Given the description of an element on the screen output the (x, y) to click on. 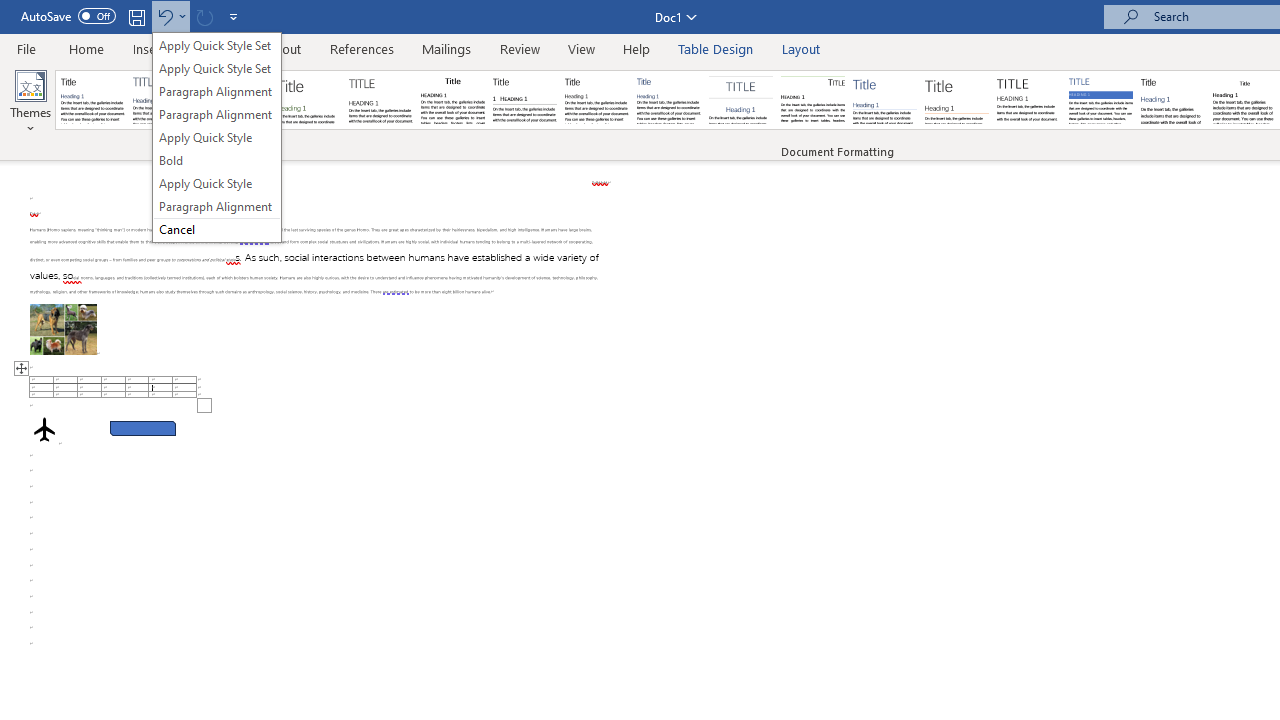
Minimalist (1028, 100)
Undo Apply Quick Style Set (170, 15)
Black & White (Word 2013) (596, 100)
Document (93, 100)
Lines (Stylish) (957, 100)
Can't Repeat (204, 15)
Themes (30, 102)
Word (1172, 100)
